Given the description of an element on the screen output the (x, y) to click on. 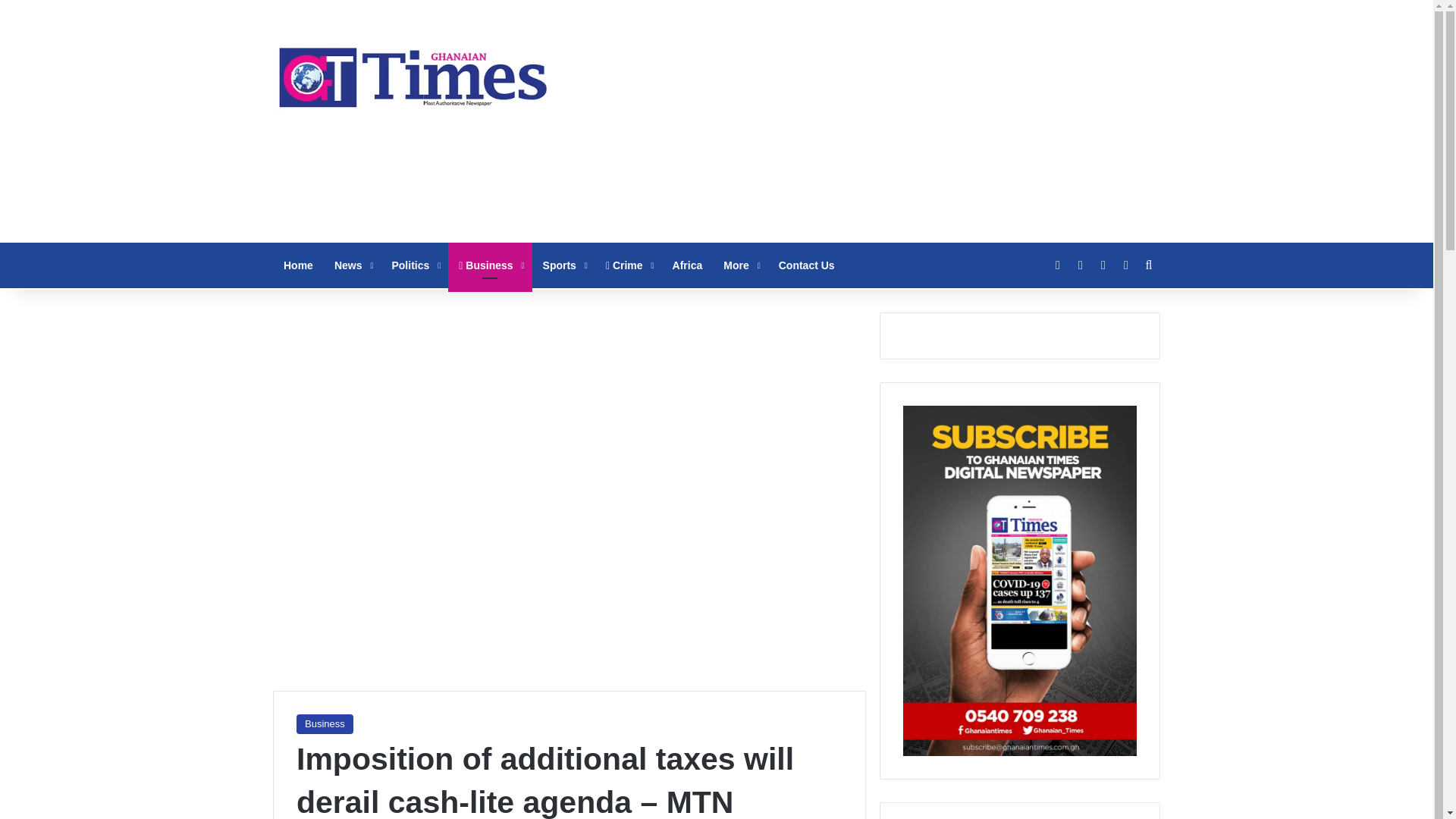
Ghanaian Times (413, 72)
Sports (563, 265)
Business (489, 265)
More (740, 265)
Crime (628, 265)
Politics (414, 265)
Business (325, 723)
Advertisement (868, 121)
Contact Us (806, 265)
Home (298, 265)
News (352, 265)
Africa (687, 265)
